Given the description of an element on the screen output the (x, y) to click on. 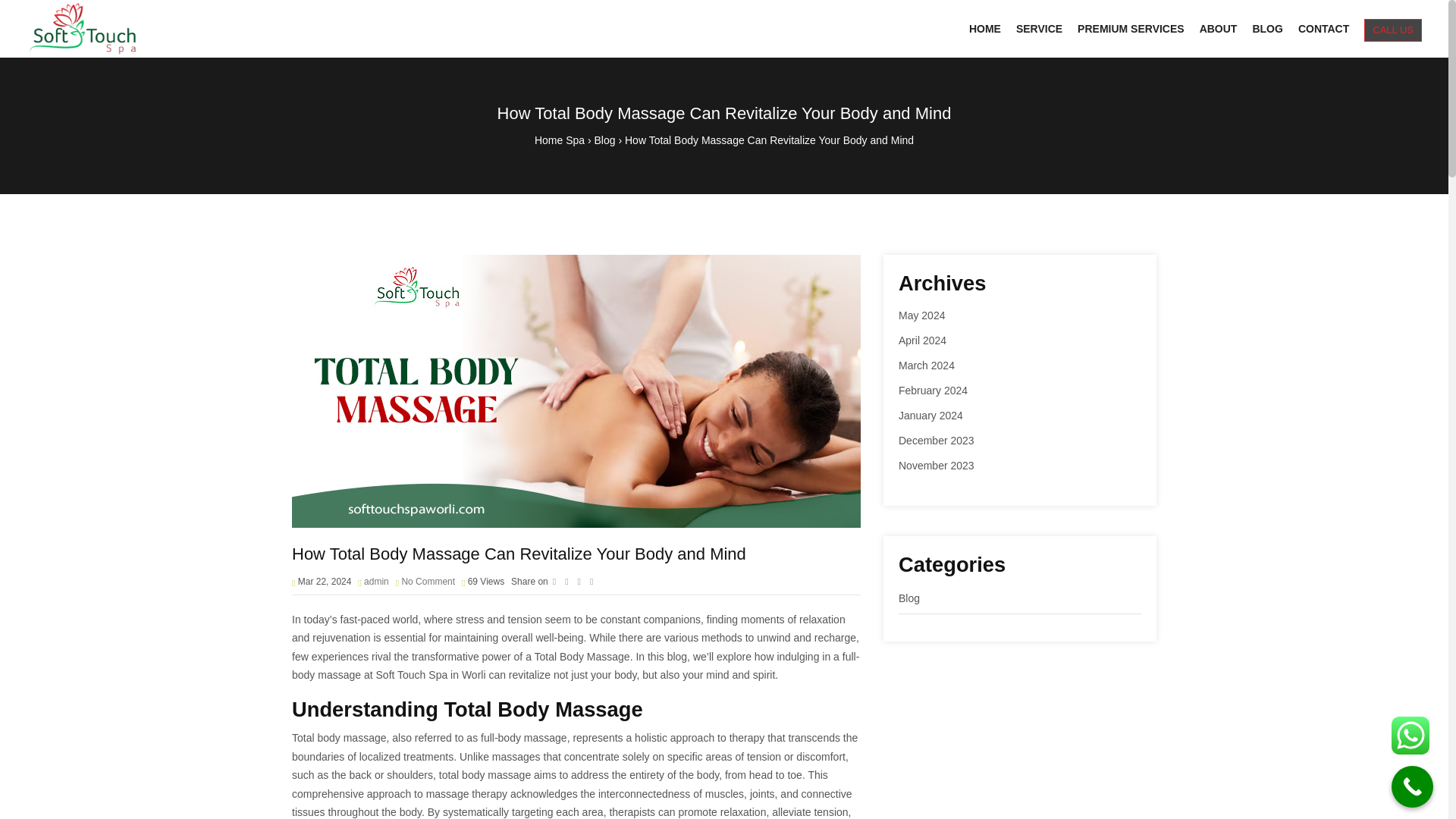
BLOG (1267, 29)
CONTACT (1323, 29)
ABOUT (1218, 29)
SERVICE (1039, 29)
HOME (984, 29)
Softtouchspaworli (81, 29)
PREMIUM SERVICES (1131, 29)
